Given the description of an element on the screen output the (x, y) to click on. 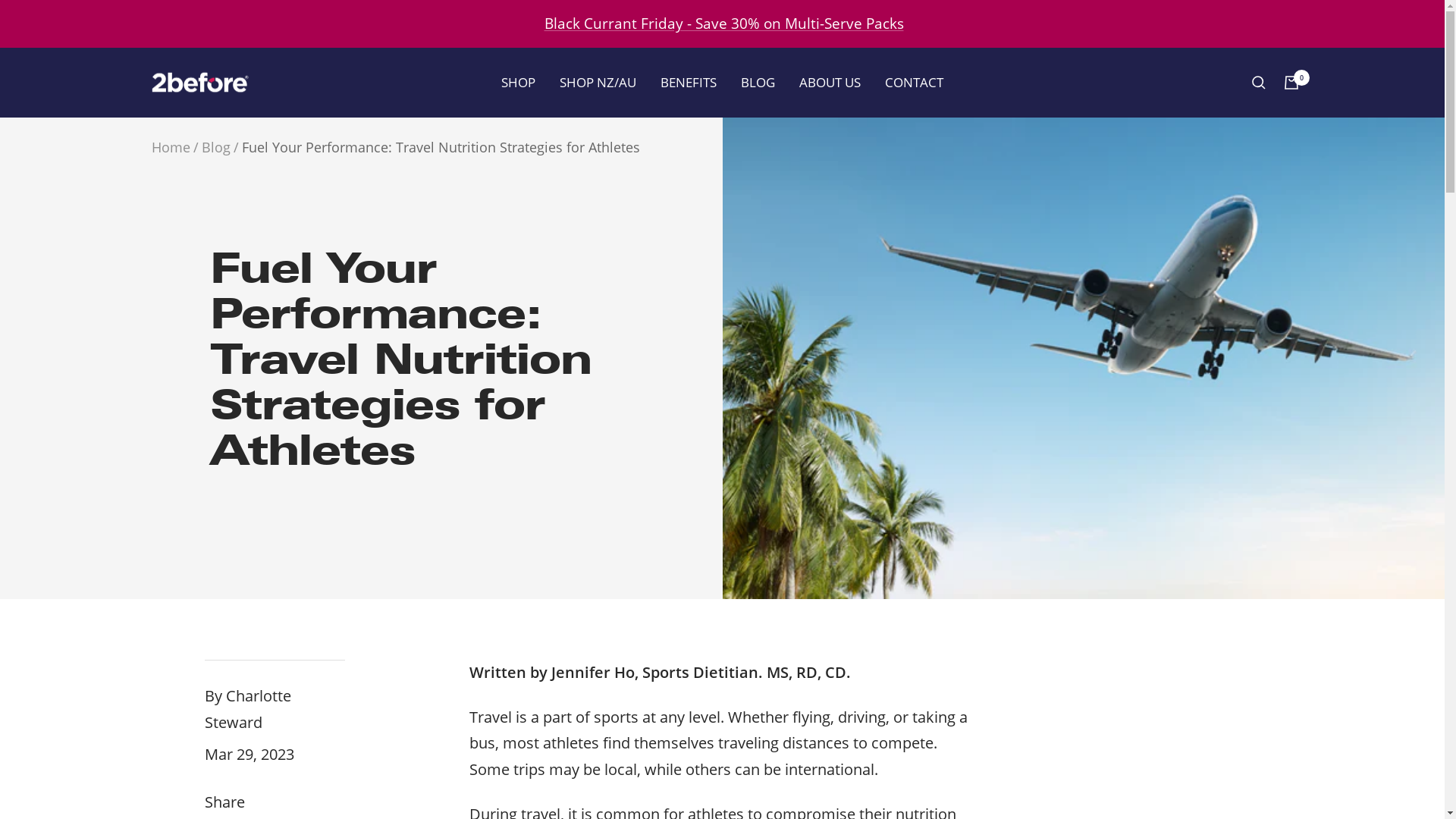
BLOG Element type: text (757, 82)
CONTACT Element type: text (913, 82)
Home Element type: text (170, 147)
Black Currant Friday - Save 30% on Multi-Serve Packs Element type: text (723, 23)
Blog Element type: text (215, 147)
ABOUT US Element type: text (829, 82)
BENEFITS Element type: text (688, 82)
SHOP Element type: text (518, 82)
0 Element type: text (1290, 82)
2before Element type: text (198, 82)
SHOP NZ/AU Element type: text (597, 82)
